Given the description of an element on the screen output the (x, y) to click on. 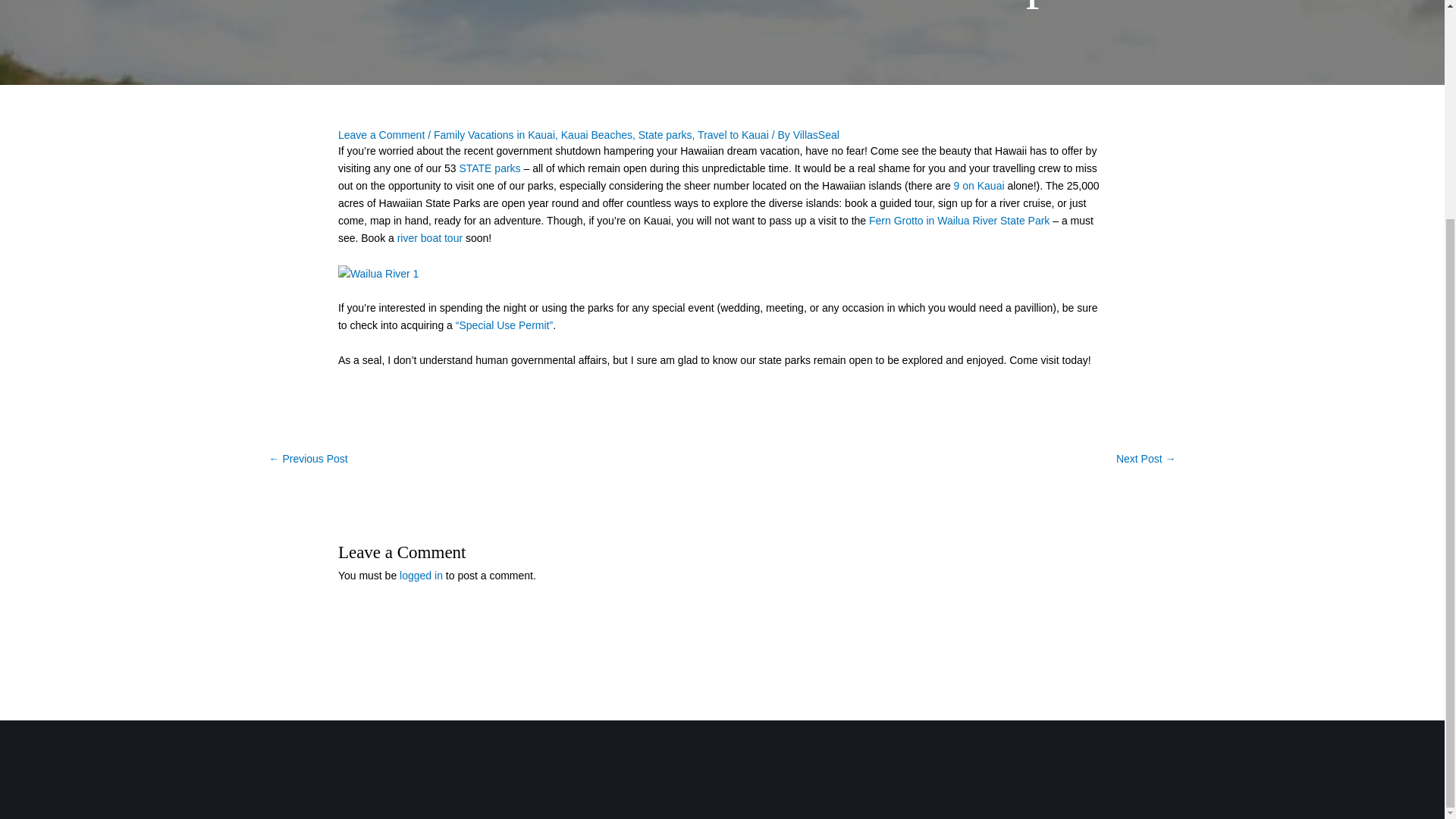
View all posts by VillasSeal (816, 134)
Family Vacations in Kauai (493, 134)
Travel to Kauai (732, 134)
logged in (420, 575)
Kauai Museum (1146, 460)
Fern Grotto in Wailua River State Park (959, 220)
STATE parks (488, 168)
Kauai Beaches (595, 134)
State parks (666, 134)
VillasSeal (816, 134)
